Given the description of an element on the screen output the (x, y) to click on. 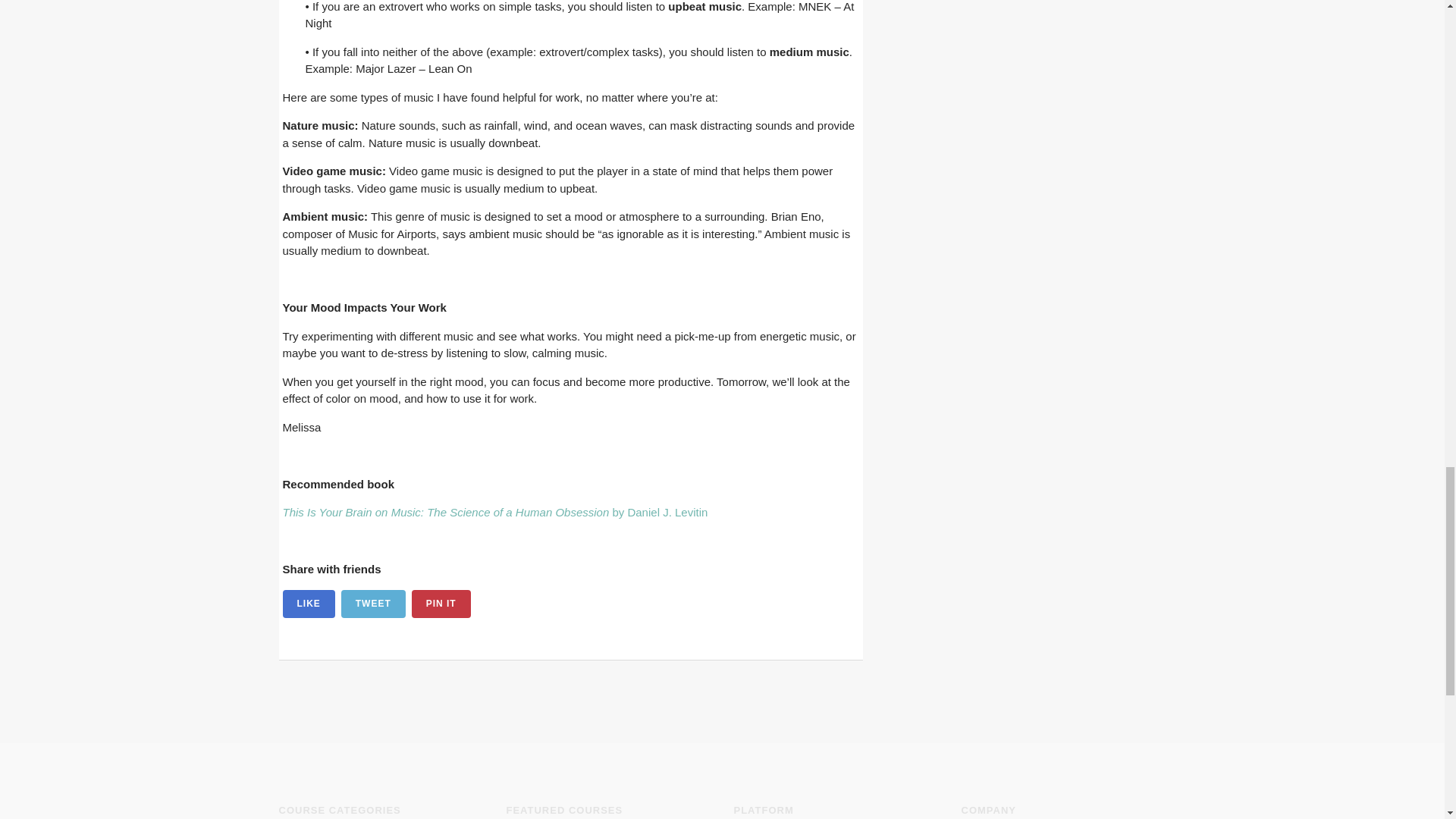
TWEET (373, 603)
PIN IT (441, 603)
LIKE (308, 603)
